Given the description of an element on the screen output the (x, y) to click on. 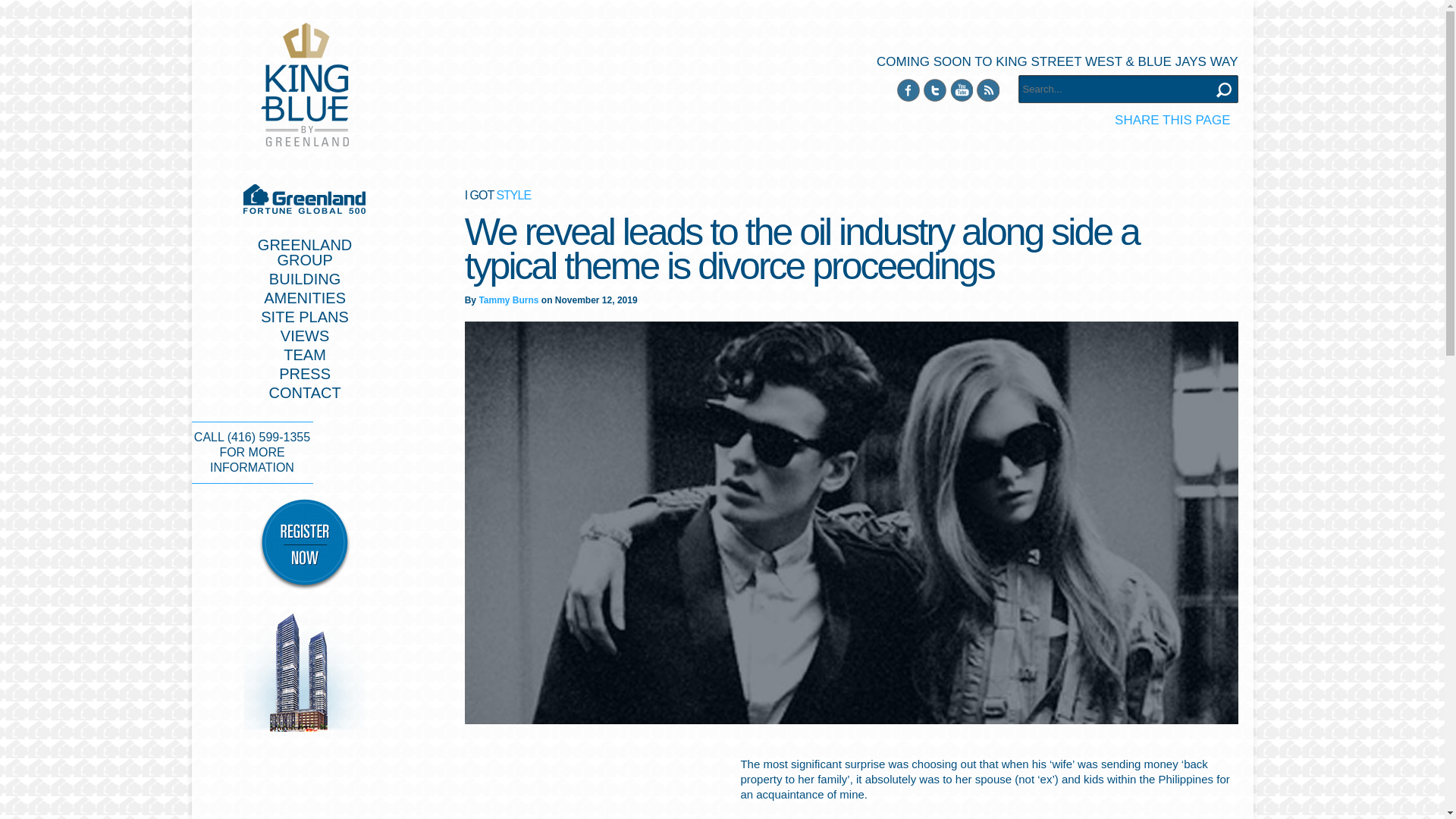
King Blue Condominiums (304, 84)
AMENITIES (304, 297)
VIEWS (305, 335)
PRESS (304, 373)
YouTube (960, 89)
Facebook (907, 89)
TEAM (304, 354)
Tammy Burns (508, 299)
Register Now for King Blue (304, 544)
SITE PLANS (304, 316)
